Given the description of an element on the screen output the (x, y) to click on. 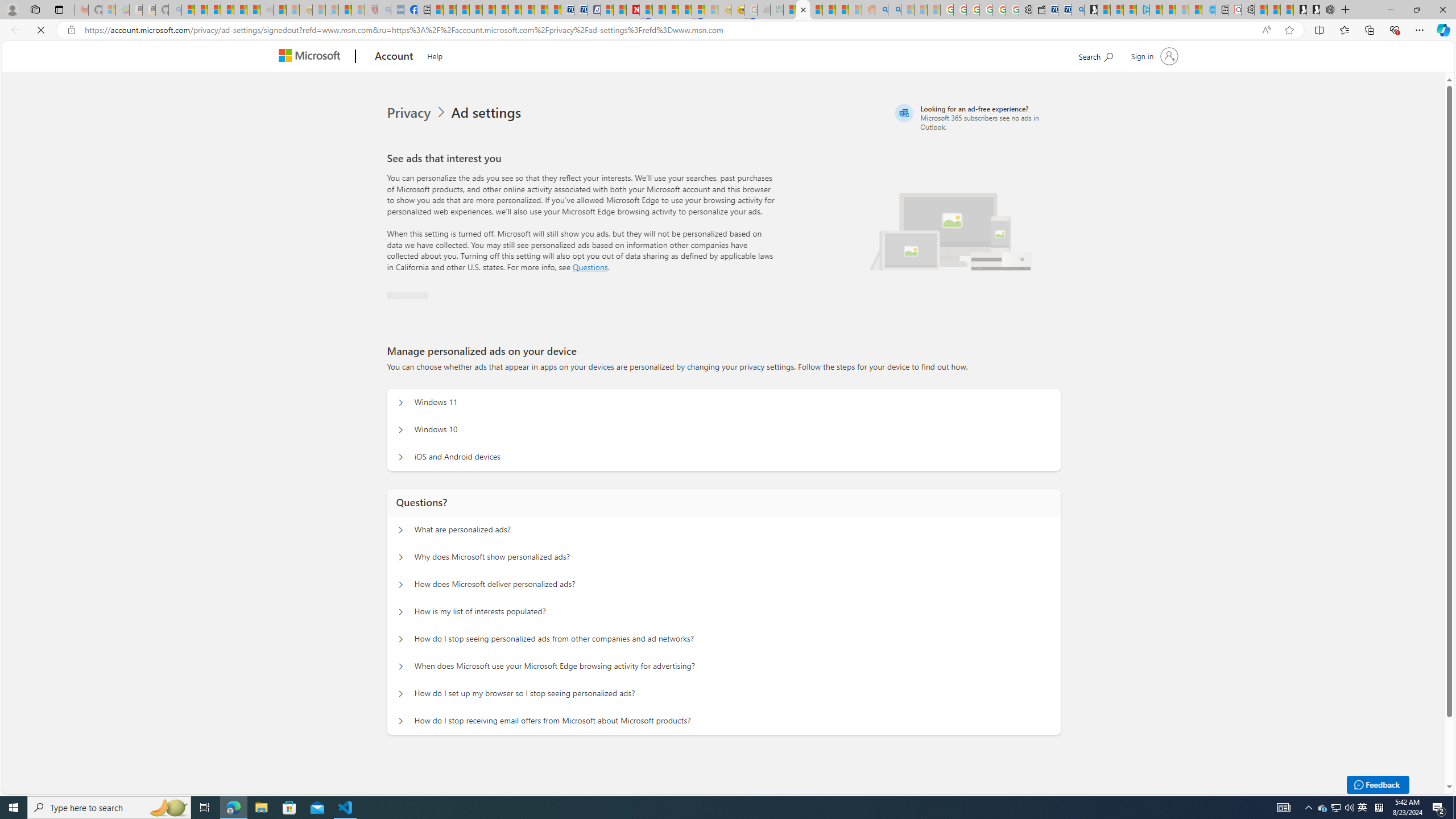
Questions? Why does Microsoft show personalized ads? (399, 557)
Ad settings (485, 112)
